Given the description of an element on the screen output the (x, y) to click on. 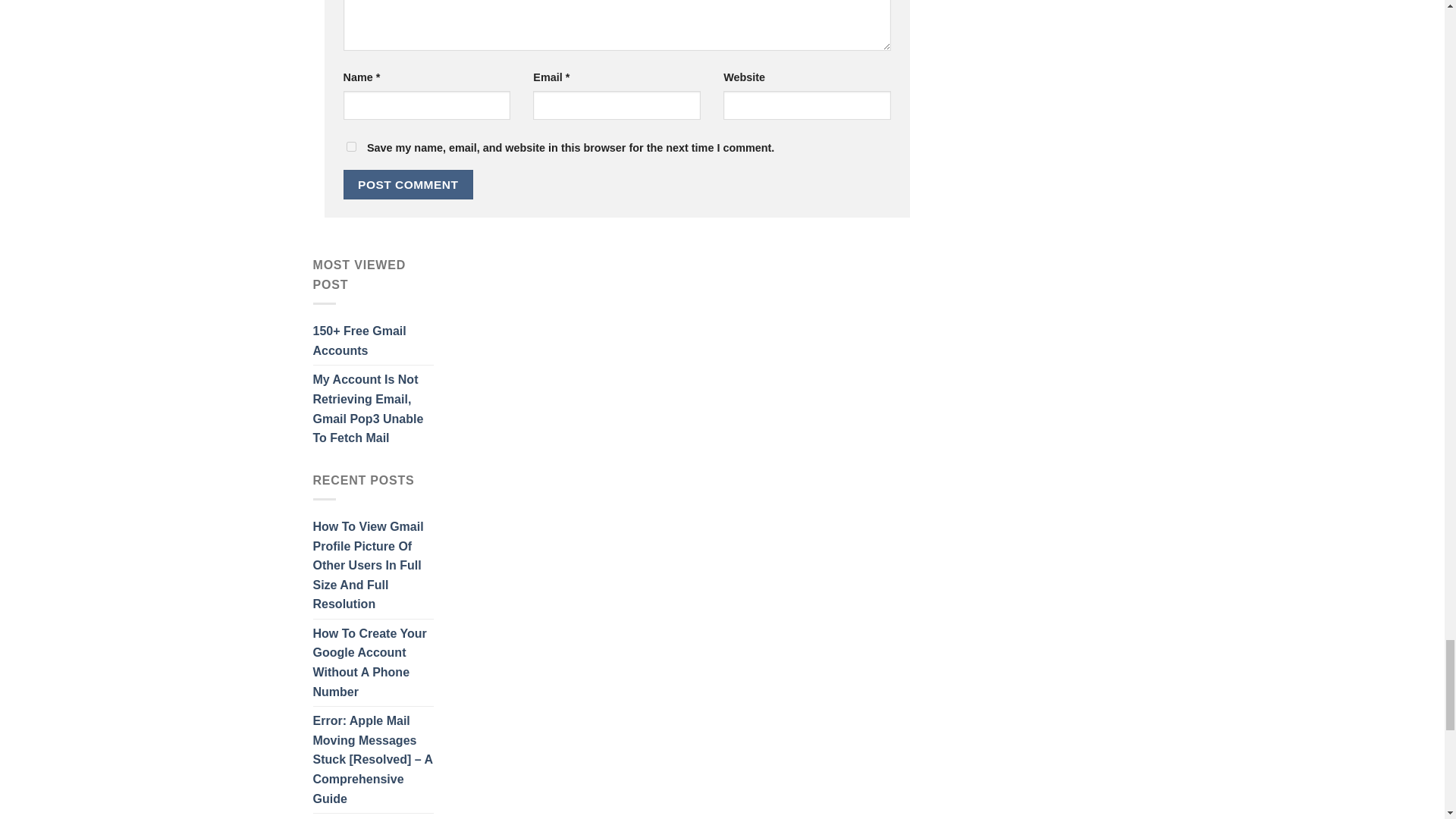
yes (350, 146)
How To Create Your Google Account Without A Phone Number (372, 662)
Post Comment (407, 184)
Post Comment (407, 184)
